Given the description of an element on the screen output the (x, y) to click on. 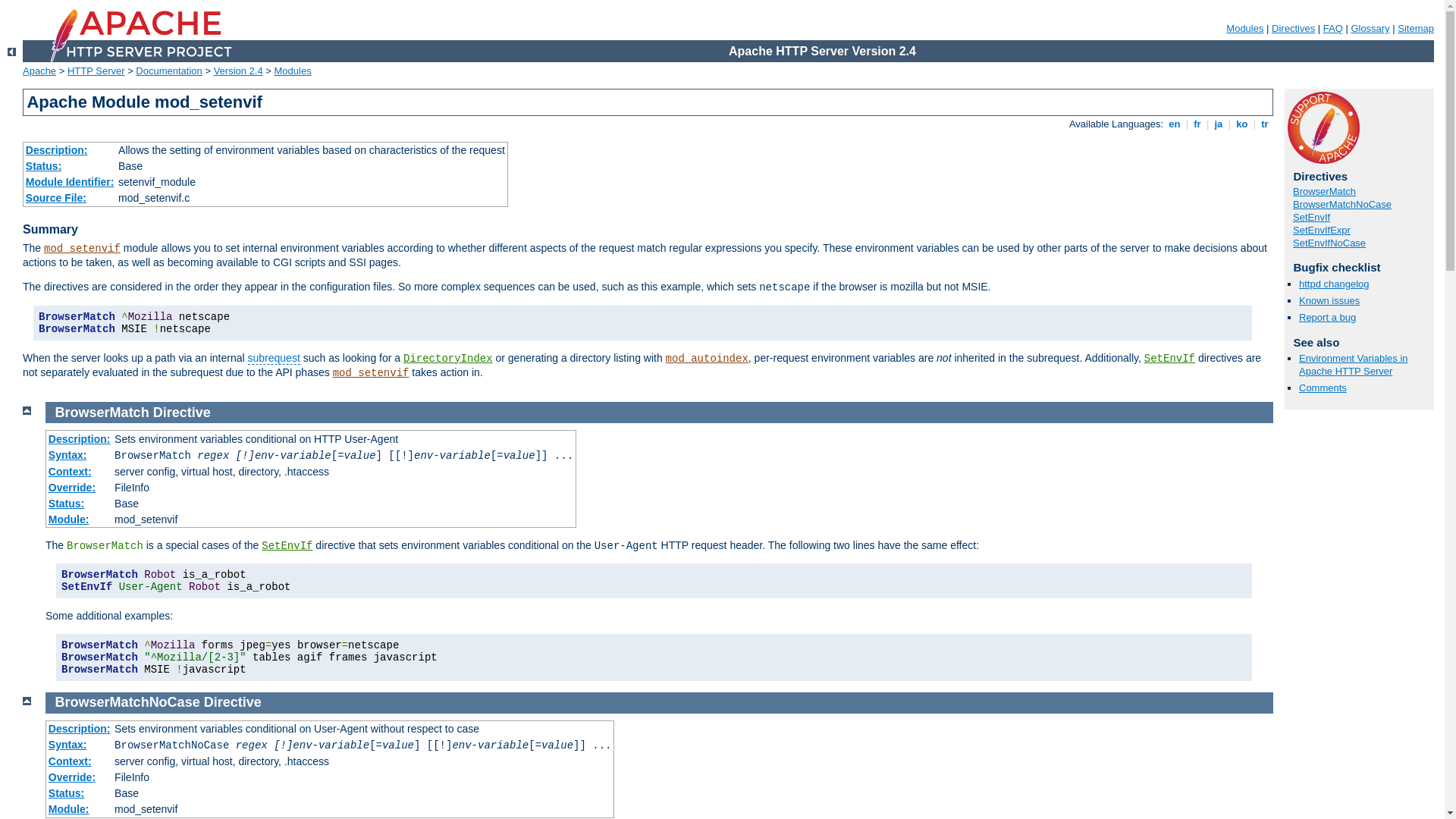
Directives Element type: text (1292, 28)
Override: Element type: text (71, 777)
BrowserMatch Element type: text (102, 412)
SetEnvIf Element type: text (1311, 216)
Documentation Element type: text (168, 70)
Sitemap Element type: text (1415, 28)
SetEnvIfNoCase Element type: text (1328, 242)
Version 2.4 Element type: text (238, 70)
Override: Element type: text (71, 487)
Comments Element type: text (1322, 387)
 ko  Element type: text (1241, 123)
Report a bug Element type: text (1327, 317)
Apache Element type: text (39, 70)
Modules Element type: text (1244, 28)
Directive Element type: text (232, 701)
Source File: Element type: text (55, 197)
 en  Element type: text (1174, 123)
<- Element type: hover (11, 51)
Context: Element type: text (69, 761)
SetEnvIf Element type: text (286, 545)
Module: Element type: text (68, 809)
Syntax: Element type: text (67, 744)
Description: Element type: text (79, 439)
 tr  Element type: text (1264, 123)
Modules Element type: text (292, 70)
BrowserMatchNoCase Element type: text (127, 701)
httpd changelog Element type: text (1334, 283)
BrowserMatchNoCase Element type: text (1341, 204)
Module: Element type: text (68, 519)
subrequest Element type: text (273, 357)
 ja  Element type: text (1218, 123)
Description: Element type: text (79, 728)
Module Identifier: Element type: text (69, 181)
SetEnvIfExpr Element type: text (1321, 229)
Context: Element type: text (69, 471)
Description: Element type: text (56, 150)
Syntax: Element type: text (67, 454)
SetEnvIf Element type: text (1169, 358)
FAQ Element type: text (1333, 28)
Known issues Element type: text (1329, 300)
Glossary Element type: text (1369, 28)
BrowserMatch Element type: text (1323, 191)
Status: Element type: text (66, 503)
mod_setenvif Element type: text (370, 373)
Status: Element type: text (43, 166)
Directive Element type: text (181, 412)
HTTP Server Element type: text (96, 70)
Environment Variables in Apache HTTP Server Element type: text (1353, 364)
Status: Element type: text (66, 793)
mod_setenvif Element type: text (81, 248)
DirectoryIndex Element type: text (447, 358)
mod_autoindex Element type: text (706, 358)
 fr  Element type: text (1197, 123)
